Given the description of an element on the screen output the (x, y) to click on. 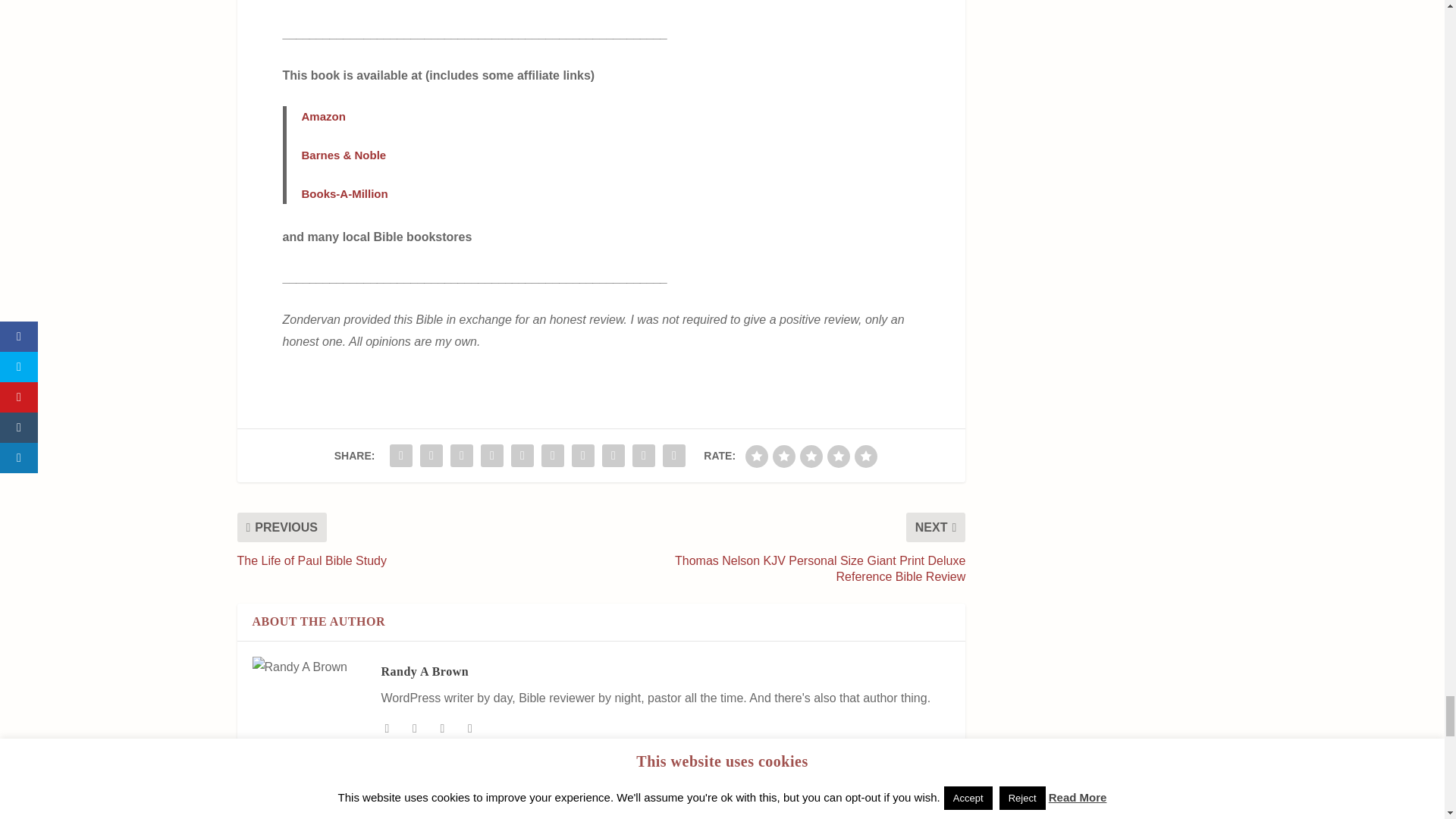
Share "Amplified Reading Bible Review" via Pinterest (521, 455)
Share "Amplified Reading Bible Review" via LinkedIn (552, 455)
Share "Amplified Reading Bible Review" via Tumblr (491, 455)
Share "Amplified Reading Bible Review" via Facebook (400, 455)
Share "Amplified Reading Bible Review" via Buffer (582, 455)
Share "Amplified Reading Bible Review" via Twitter (431, 455)
